Given the description of an element on the screen output the (x, y) to click on. 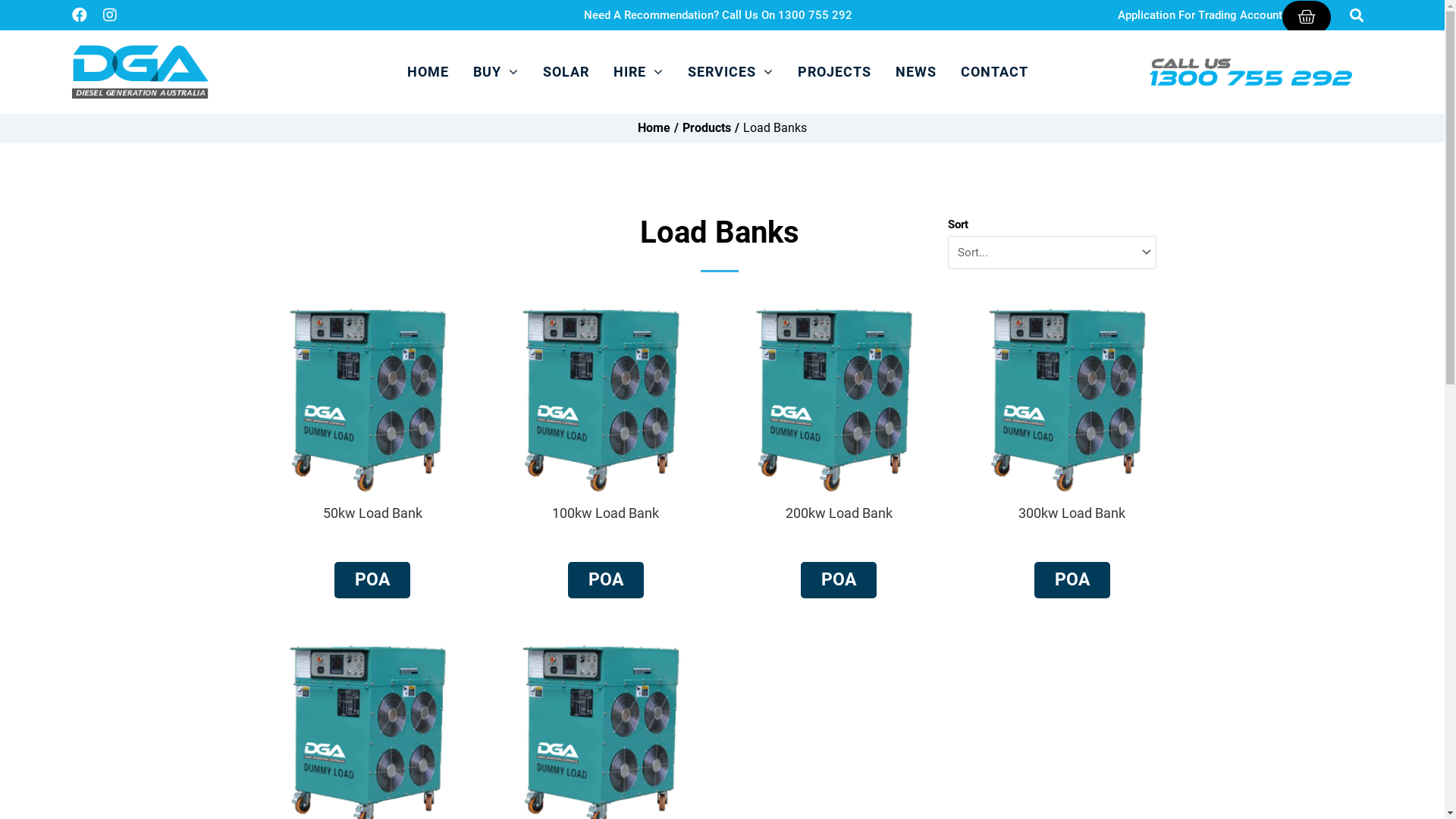
PROJECTS Element type: text (834, 71)
Instagram Element type: text (109, 14)
200kw Load Bank Element type: text (838, 512)
300kw Load Bank Element type: text (1071, 512)
Facebook Element type: text (79, 14)
50kw Load Bank Element type: text (372, 512)
Home Element type: text (653, 127)
100kw Load Bank Element type: text (605, 512)
Application For Trading Account Element type: text (1199, 14)
HIRE Element type: text (638, 71)
CONTACT Element type: text (994, 71)
BUY Element type: text (495, 71)
Cart Element type: text (1306, 16)
Products Element type: text (706, 127)
HOME Element type: text (427, 71)
SOLAR Element type: text (565, 71)
Need A Recommendation? Call Us On 1300 755 292 Element type: text (717, 14)
NEWS Element type: text (916, 71)
SERVICES Element type: text (730, 71)
